Given the description of an element on the screen output the (x, y) to click on. 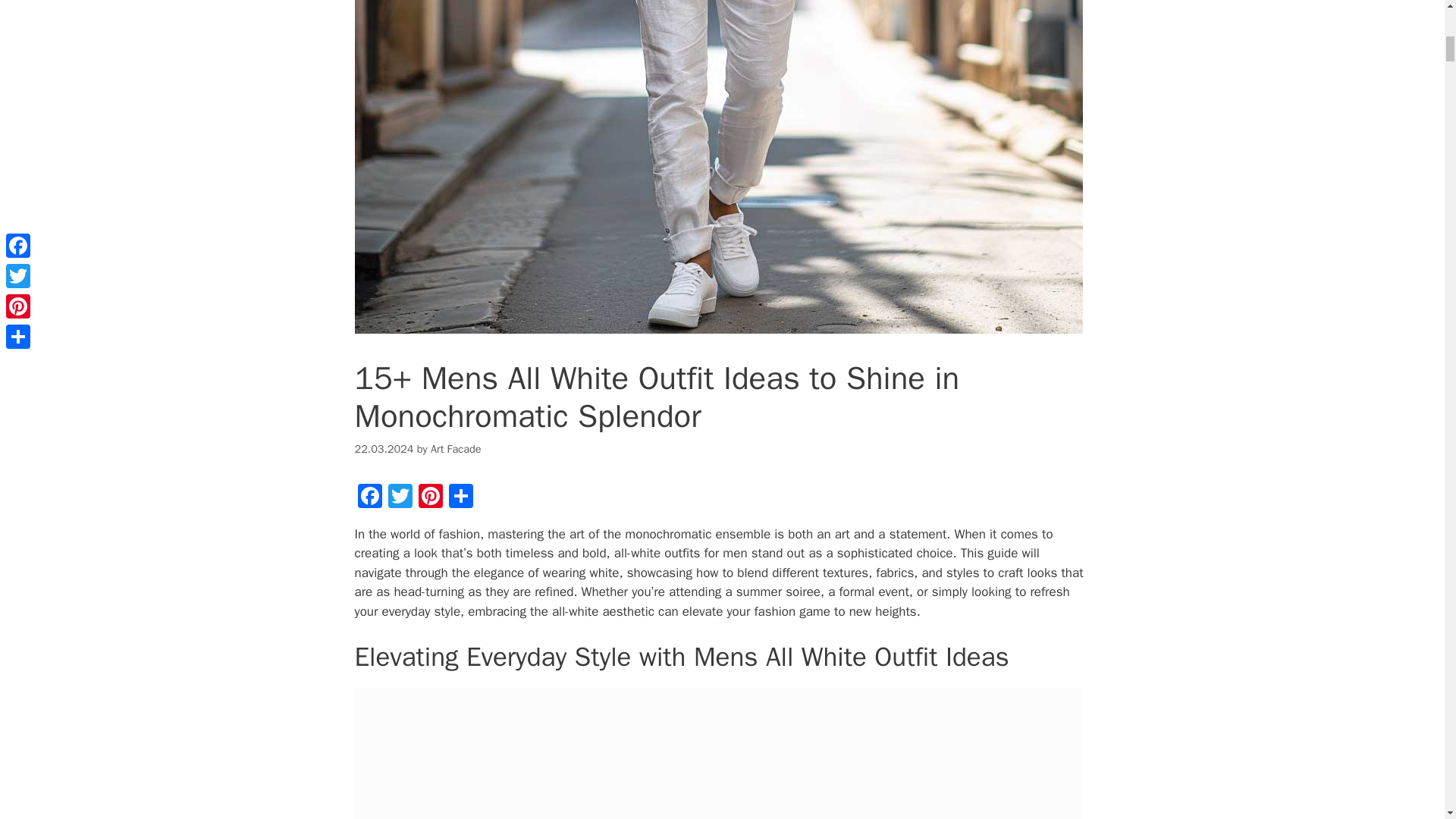
View all posts by Art Facade (455, 448)
Pinterest (429, 498)
Twitter (399, 498)
Facebook (370, 498)
Scroll back to top (1406, 720)
